Given the description of an element on the screen output the (x, y) to click on. 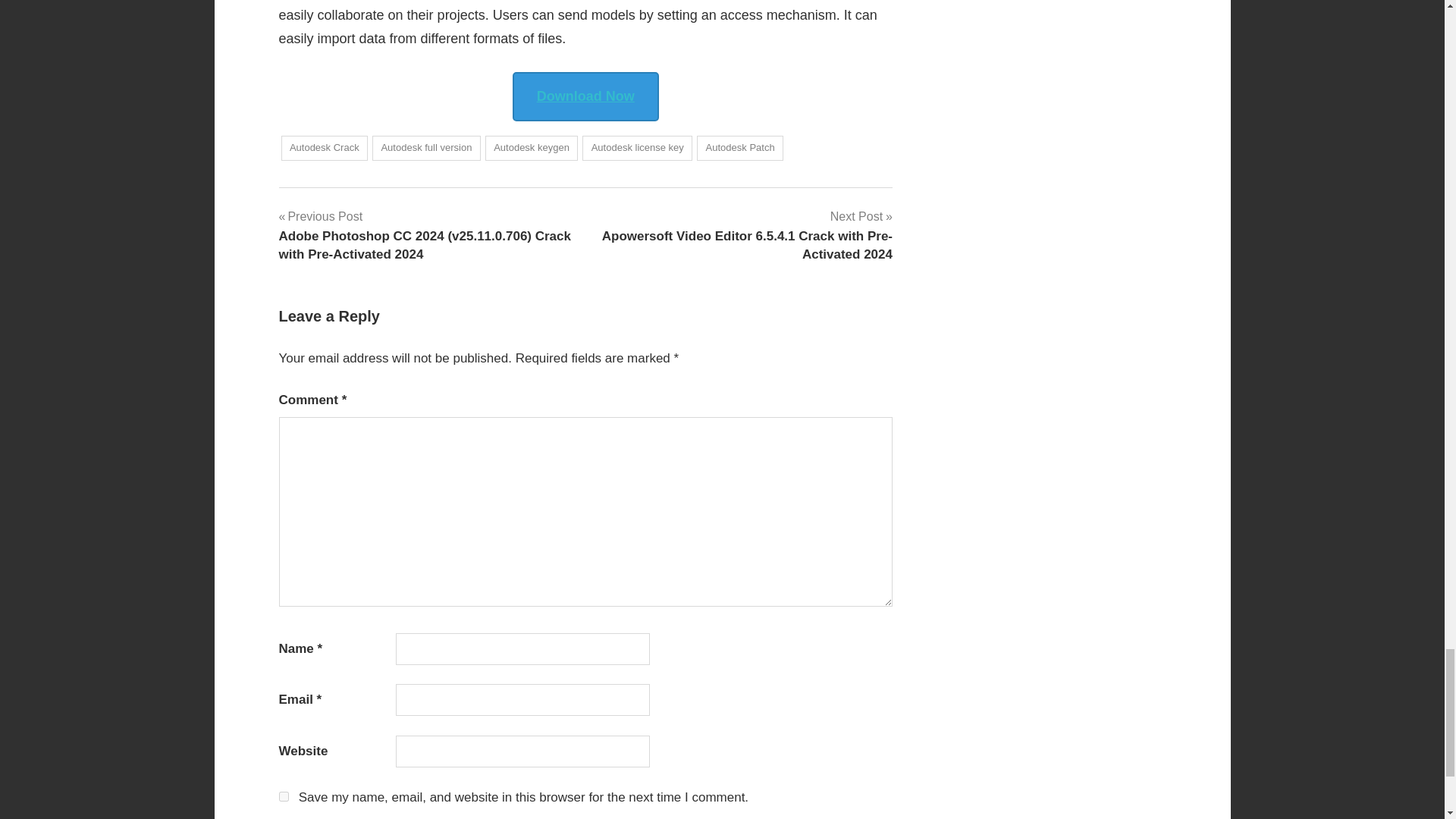
Autodesk keygen (531, 147)
Autodesk license key (637, 147)
Autodesk Crack (324, 147)
yes (283, 796)
Autodesk Patch (740, 147)
Autodesk full version (426, 147)
Download Now (585, 97)
